Given the description of an element on the screen output the (x, y) to click on. 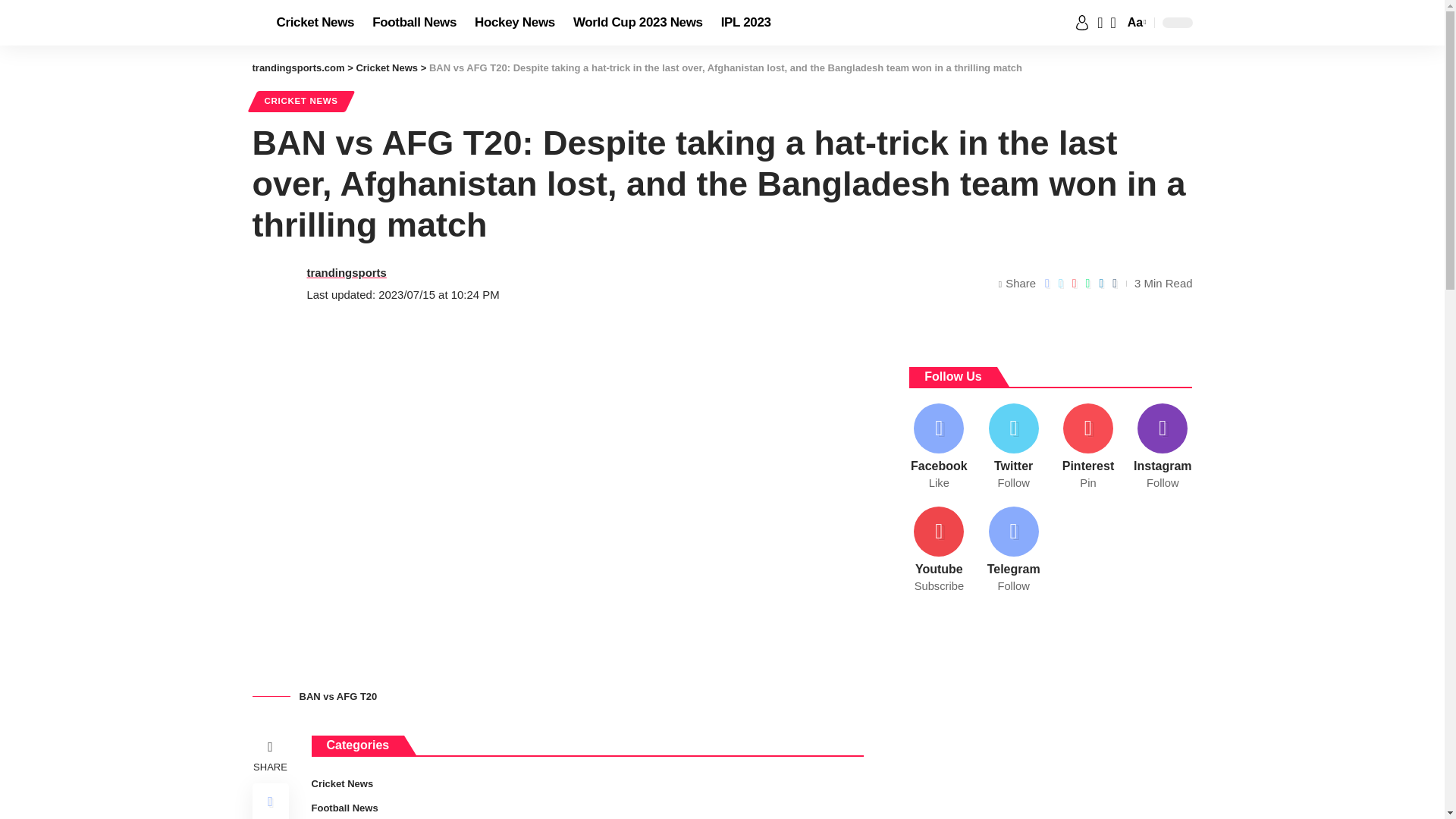
Hockey News (514, 22)
Cricket News (314, 22)
IPL 2023 (745, 22)
Go to trandingsports.com. (297, 67)
Football News (413, 22)
Go to the Cricket News Category archives. (386, 67)
World Cup 2023 News (637, 22)
Aa (1135, 22)
